Given the description of an element on the screen output the (x, y) to click on. 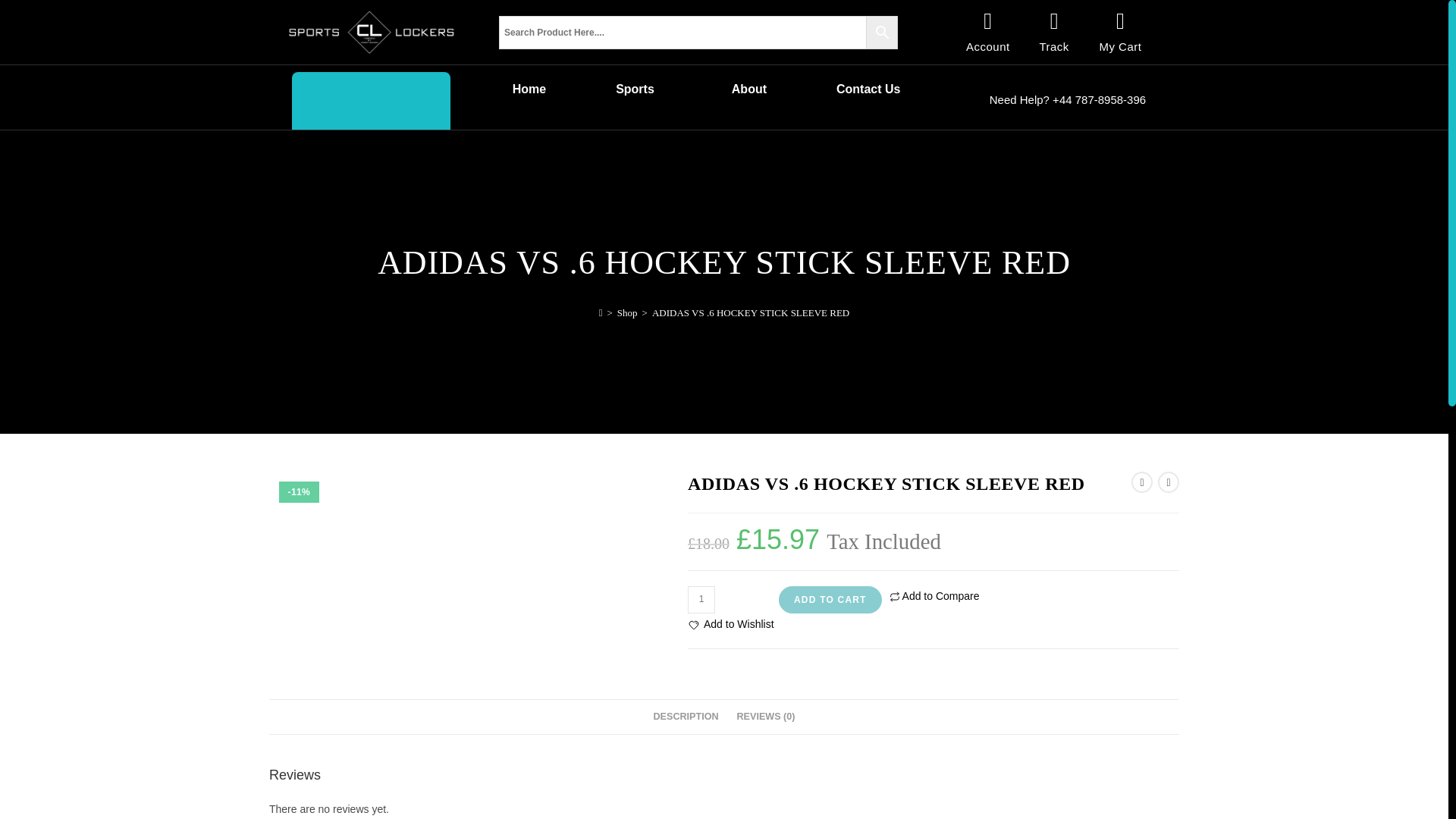
My Cart (1120, 46)
1 (700, 599)
Track (1053, 46)
Account (988, 46)
